Given the description of an element on the screen output the (x, y) to click on. 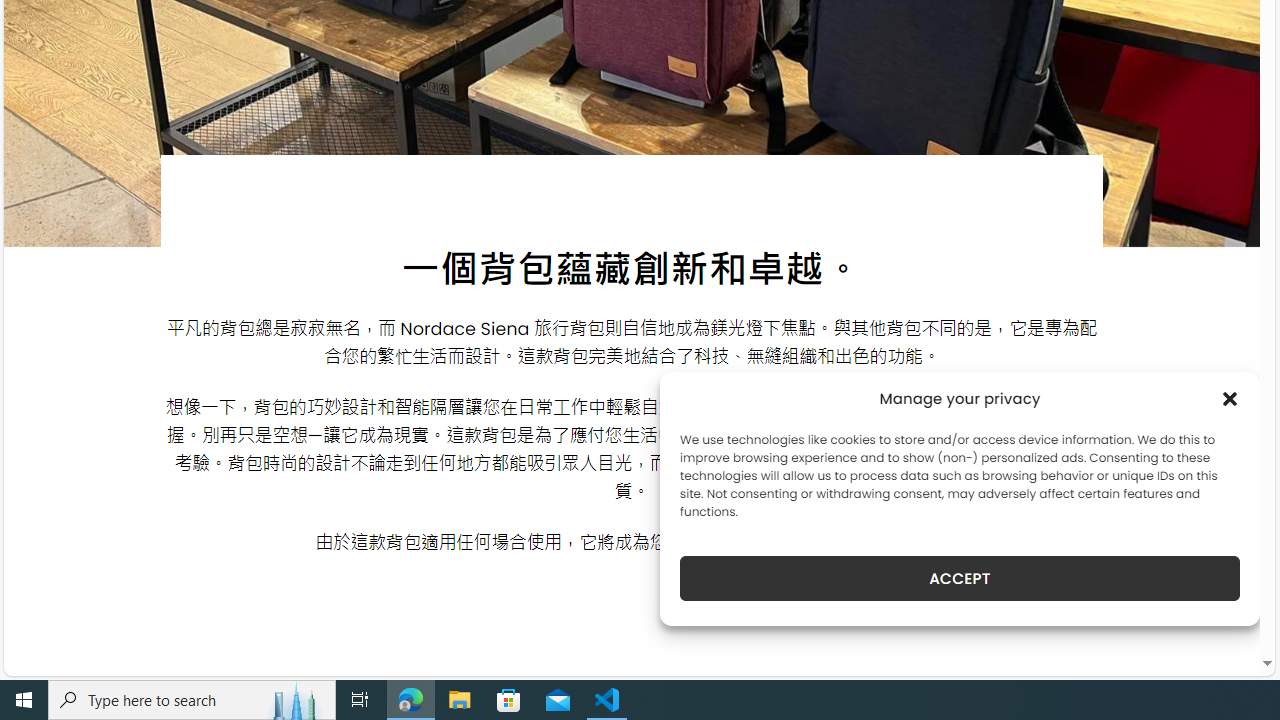
Class: cmplz-close (1229, 398)
ACCEPT (959, 578)
